Given the description of an element on the screen output the (x, y) to click on. 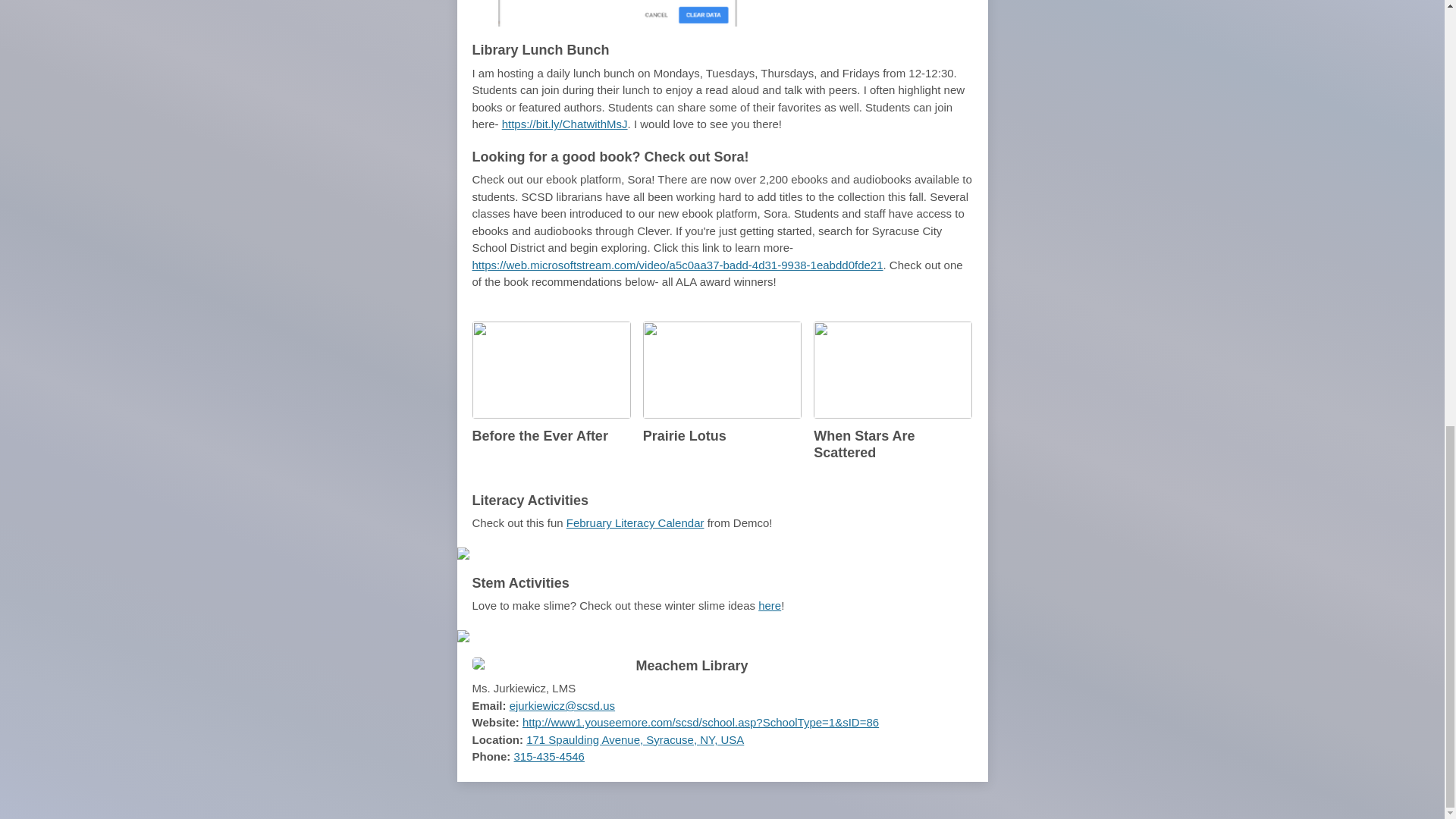
here (769, 604)
315-435-4546 (549, 756)
February Literacy Calendar (635, 522)
171 Spaulding Avenue, Syracuse, NY, USA (634, 739)
